Given the description of an element on the screen output the (x, y) to click on. 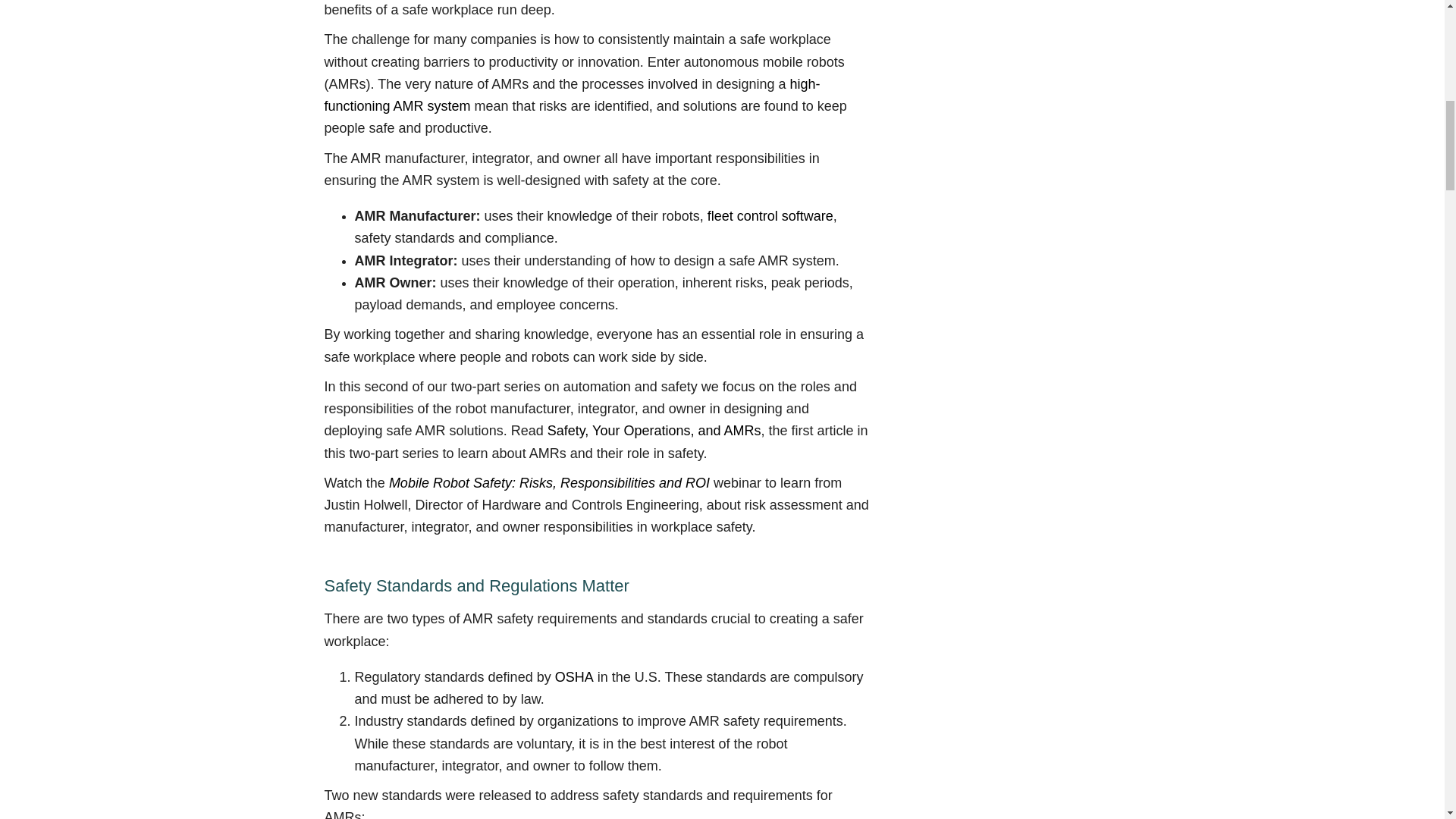
high-functioning AMR system (572, 94)
Mobile Robot Safety: Risks, Responsibilities and ROI (549, 482)
fleet control software (769, 215)
Safety, Your Operations, and AMRs (654, 430)
OSHA (574, 676)
